Given the description of an element on the screen output the (x, y) to click on. 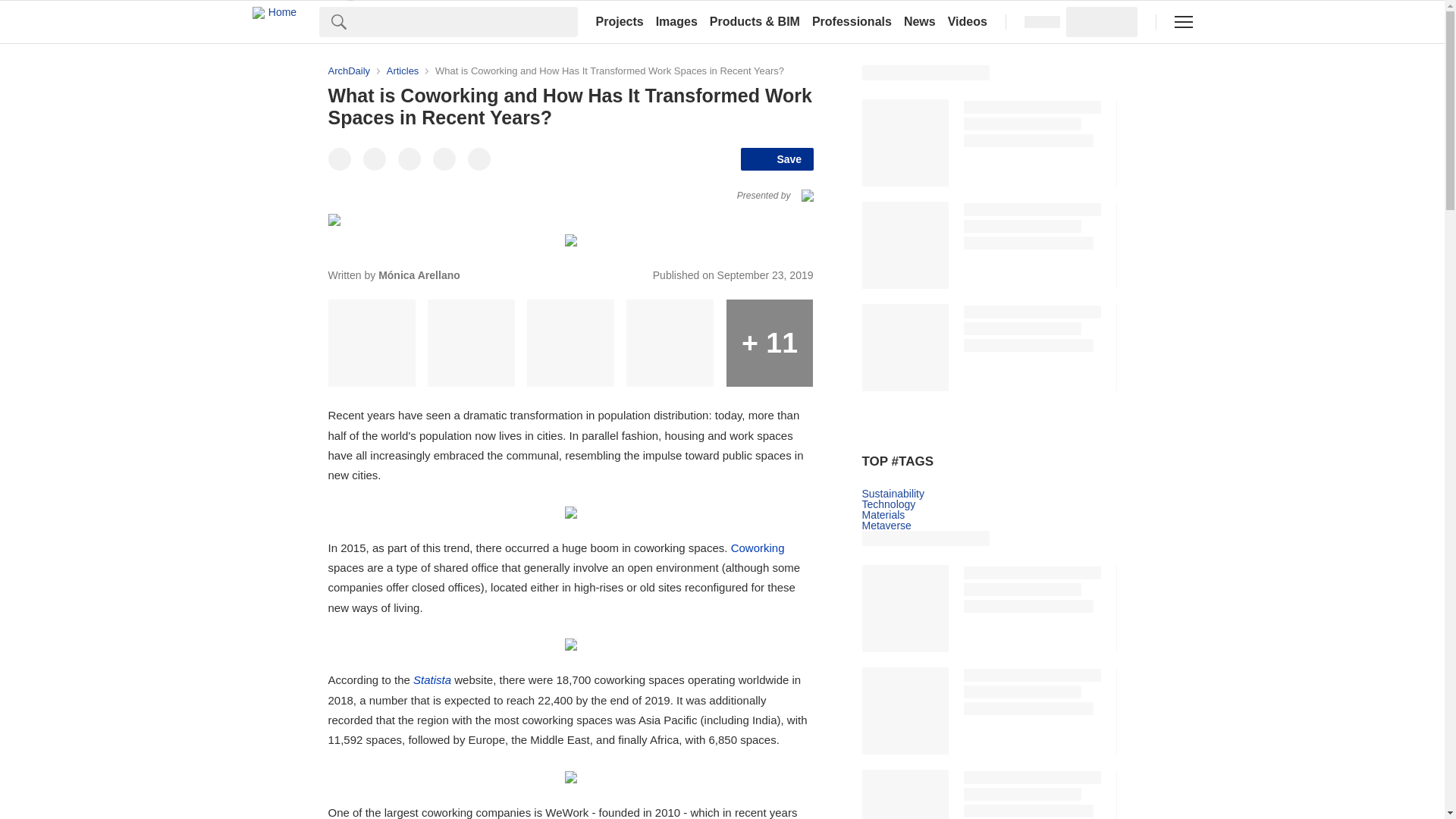
Images (676, 21)
Professionals (852, 21)
Projects (619, 21)
Videos (967, 21)
News (920, 21)
